Given the description of an element on the screen output the (x, y) to click on. 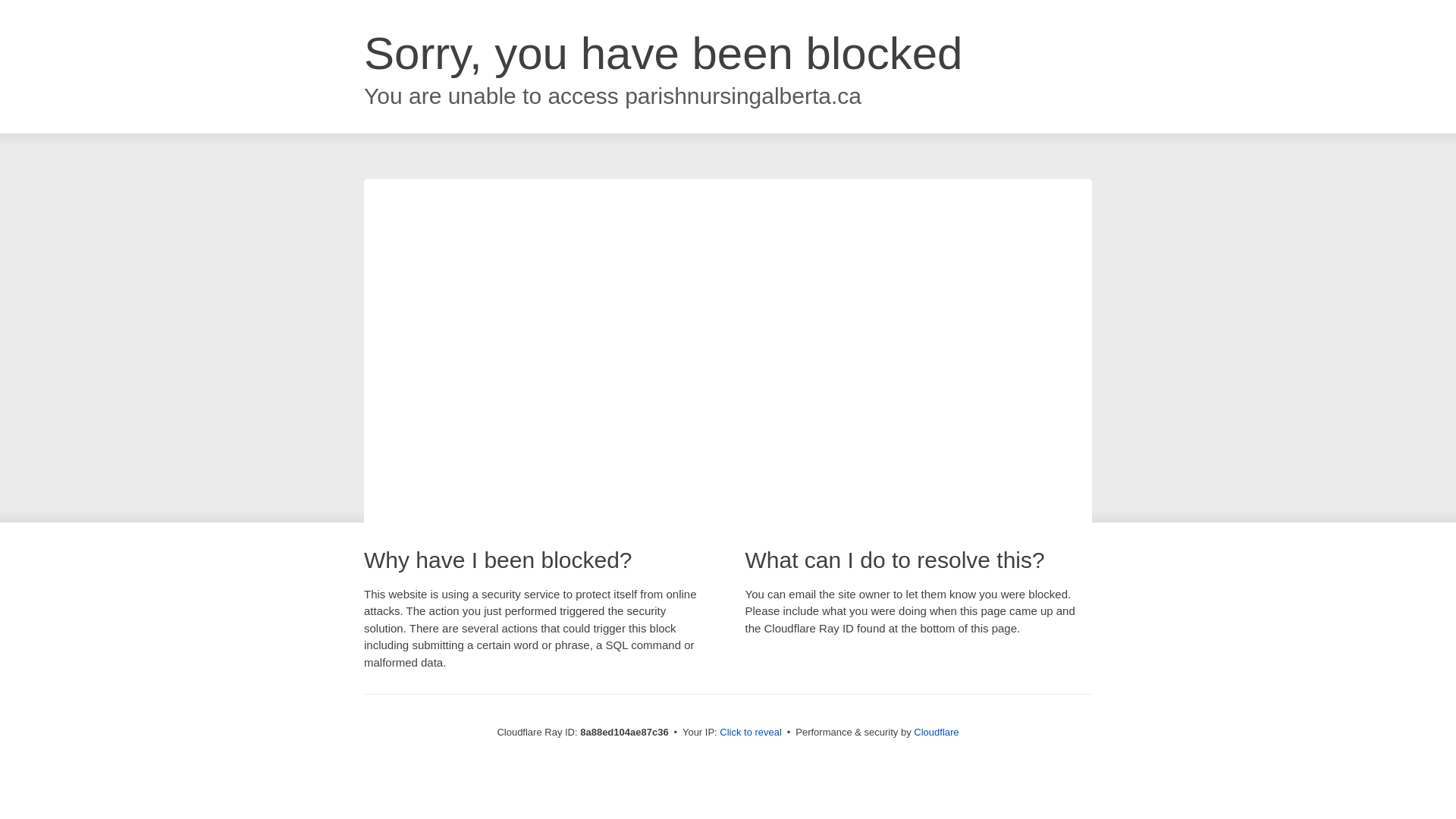
Click to reveal (750, 732)
Cloudflare (936, 731)
